Given the description of an element on the screen output the (x, y) to click on. 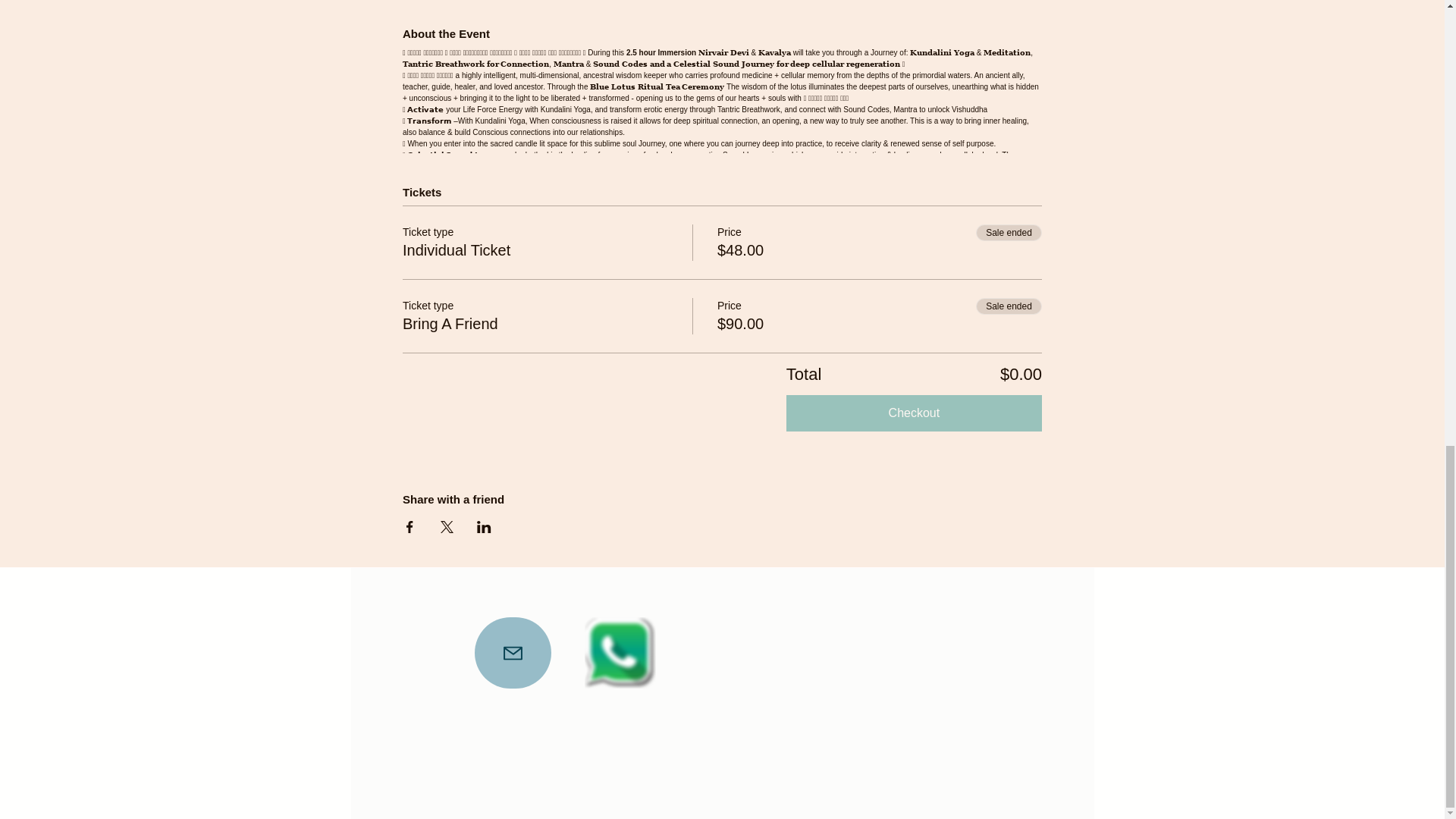
Checkout (914, 412)
